Given the description of an element on the screen output the (x, y) to click on. 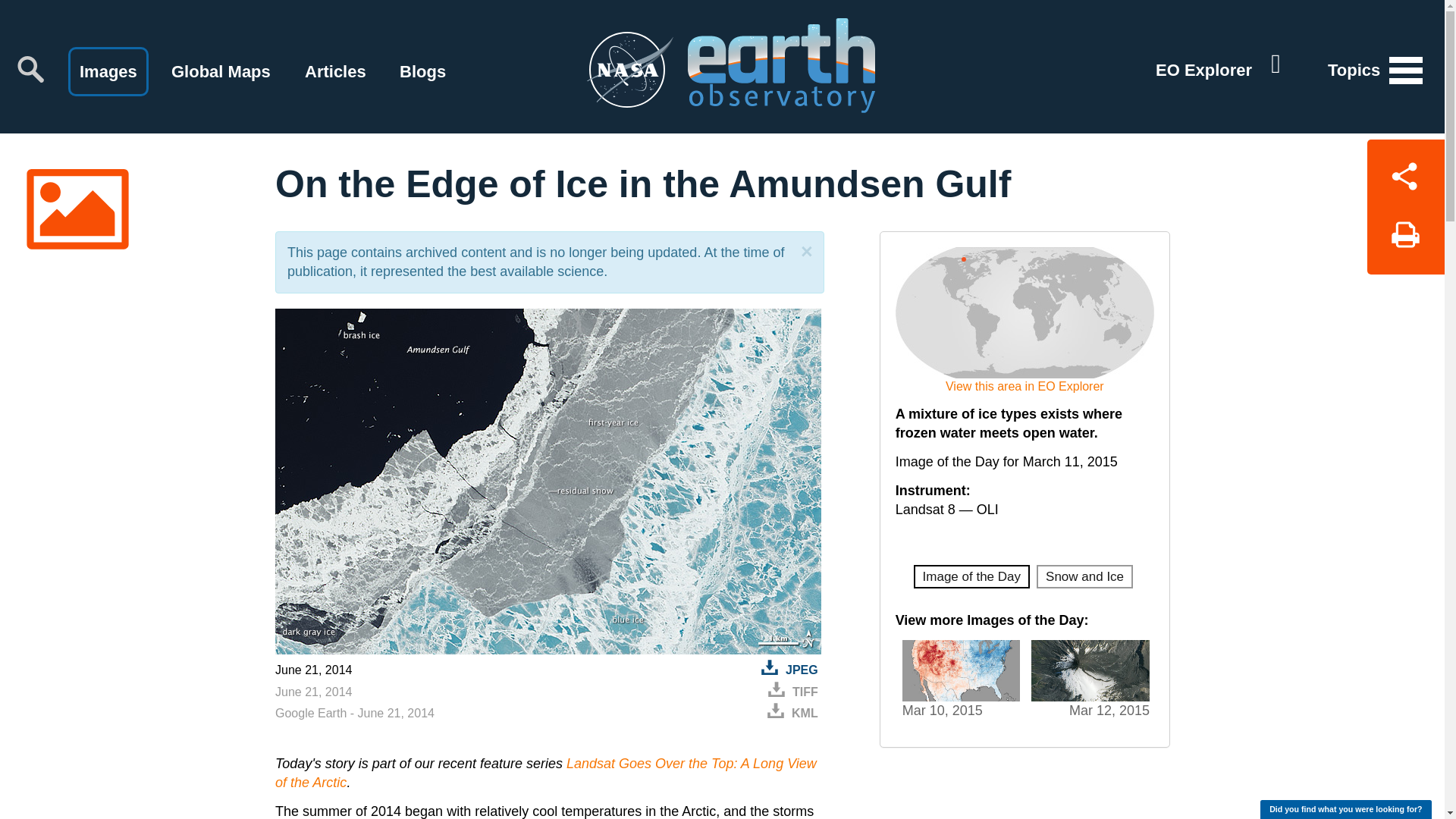
Share (1405, 173)
Print (1405, 240)
